Given the description of an element on the screen output the (x, y) to click on. 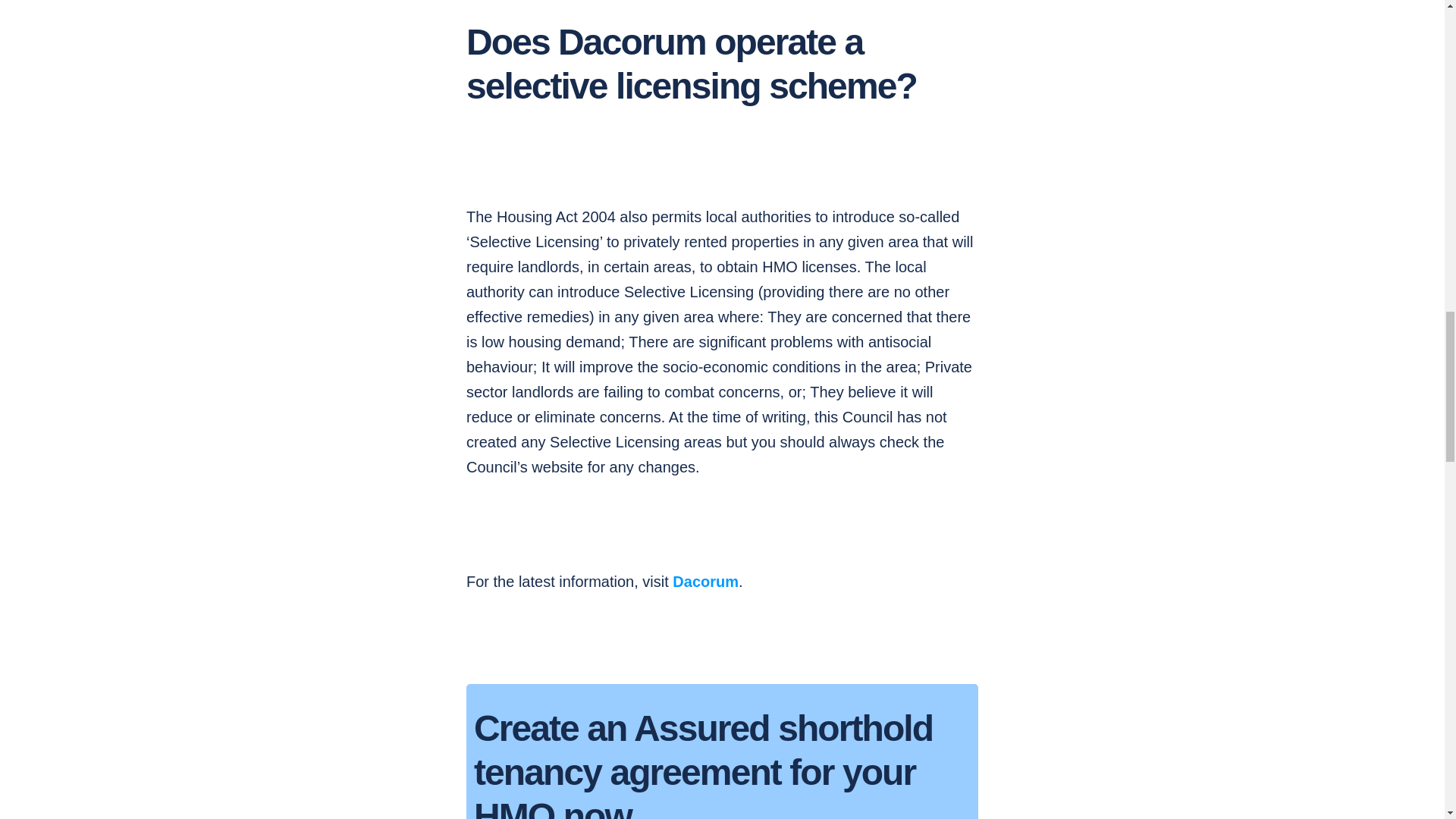
Dacorum (705, 581)
